Given the description of an element on the screen output the (x, y) to click on. 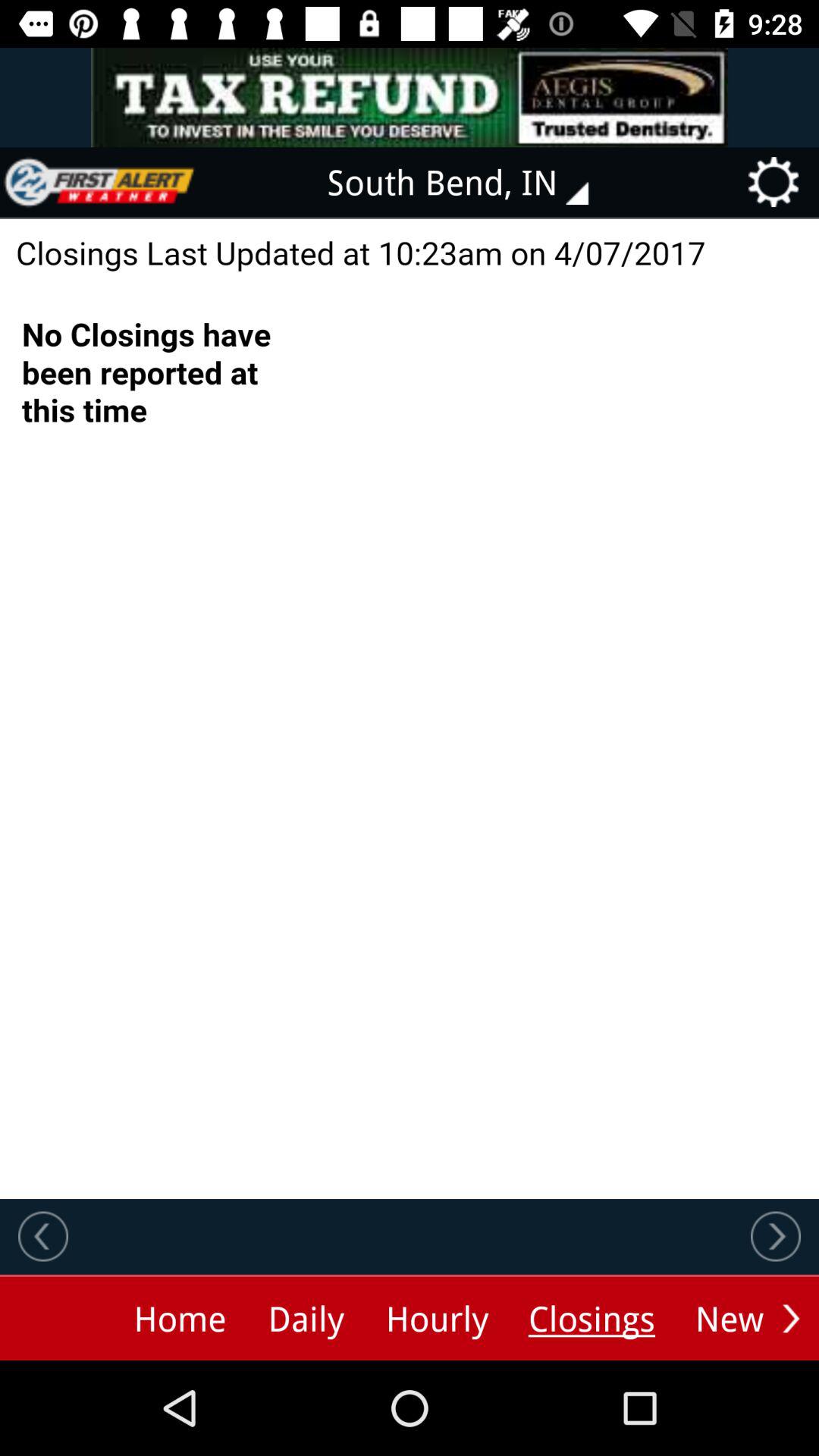
open advertisement (409, 97)
